Given the description of an element on the screen output the (x, y) to click on. 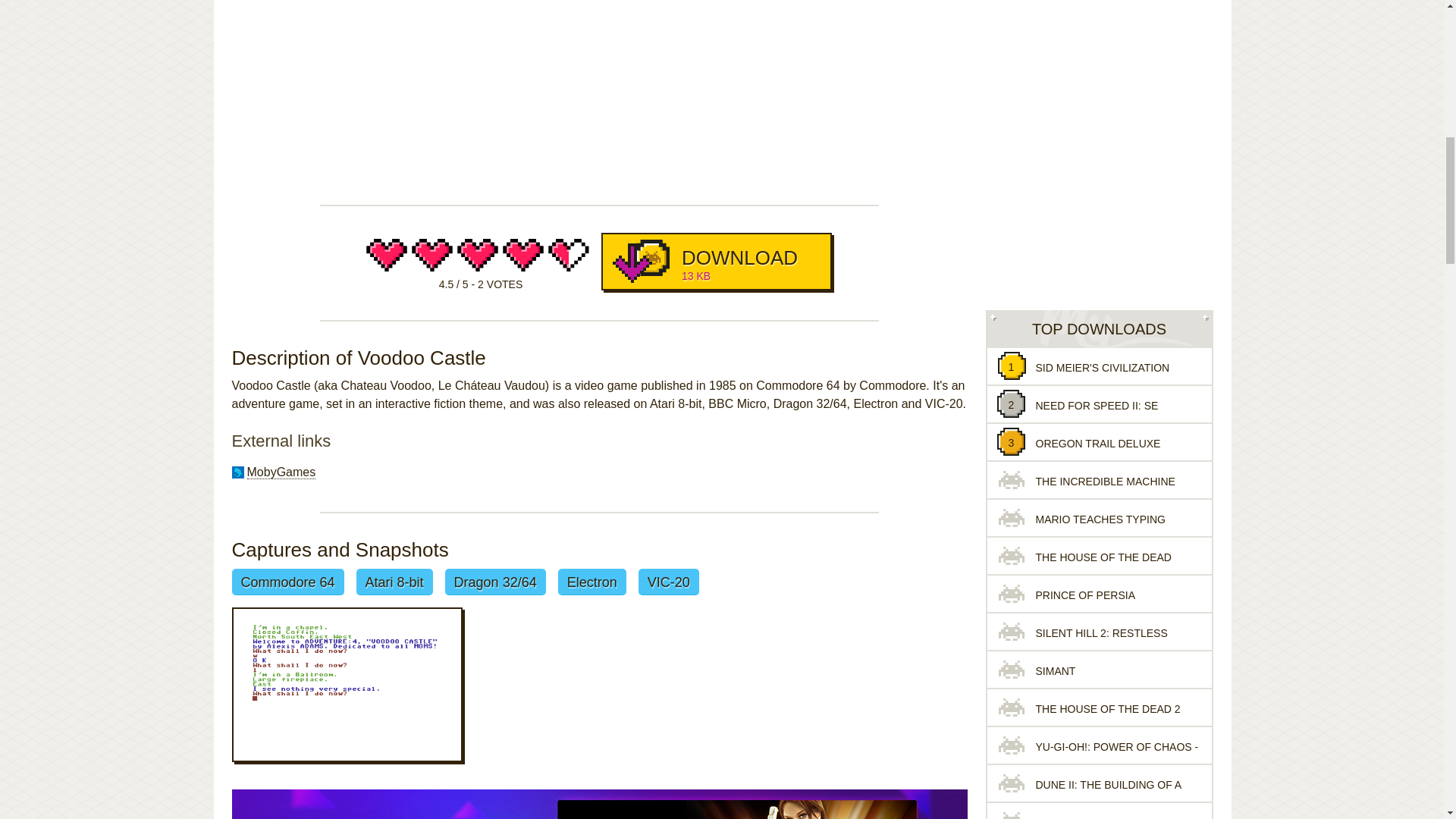
Electron (591, 581)
Atari 8-bit (394, 581)
MobyGames (281, 472)
Commodore 64 (716, 261)
